Given the description of an element on the screen output the (x, y) to click on. 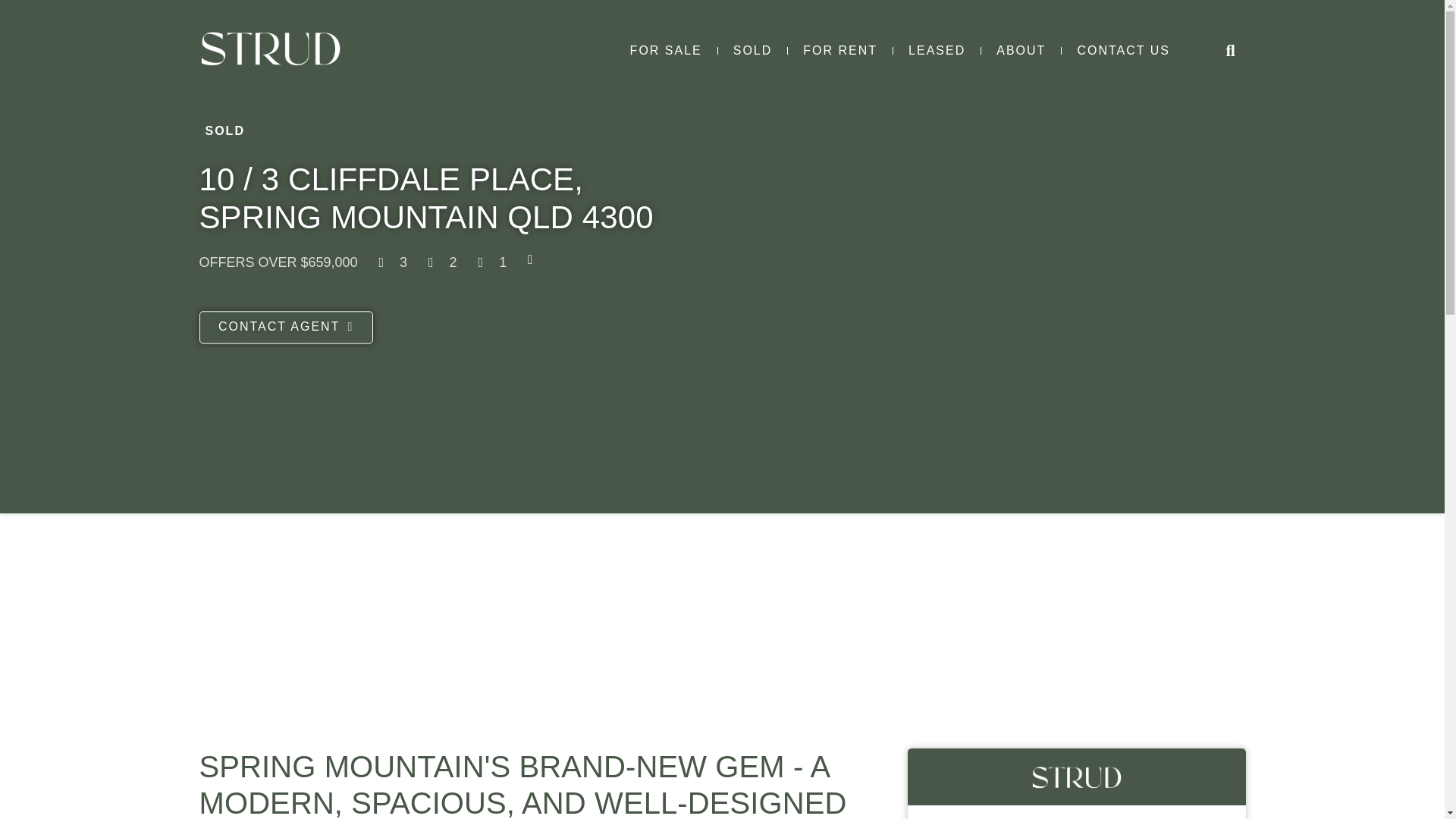
CONTACT AGENT (285, 327)
CONTACT US (1123, 50)
FOR RENT (839, 50)
LEASED (936, 50)
ABOUT (1021, 50)
FOR SALE (665, 50)
SOLD (752, 50)
